Given the description of an element on the screen output the (x, y) to click on. 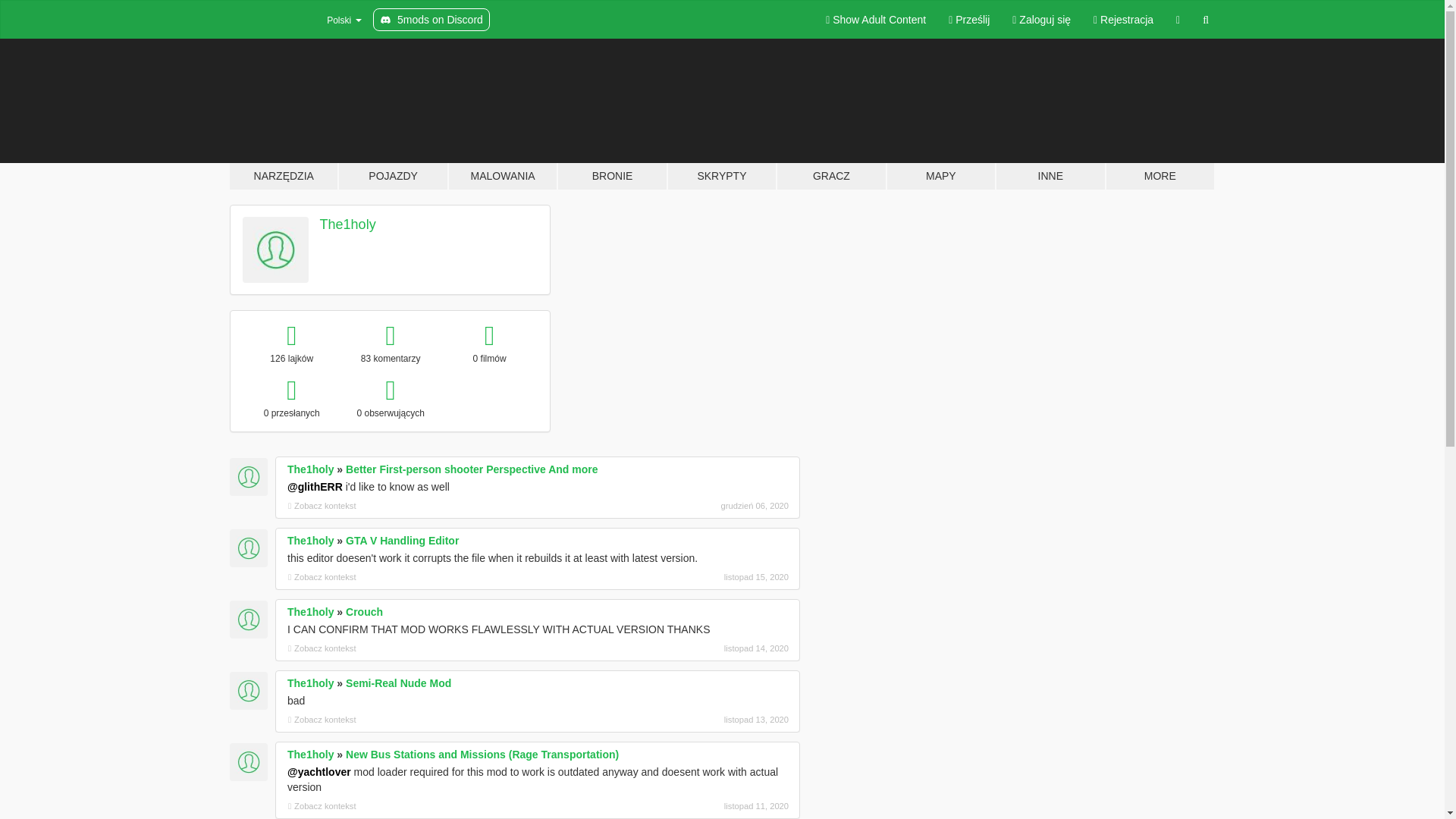
  Polski (334, 19)
Show Adult Content (875, 19)
5mods on Discord (430, 19)
Rejestracja (1122, 19)
Light mode (875, 19)
